Given the description of an element on the screen output the (x, y) to click on. 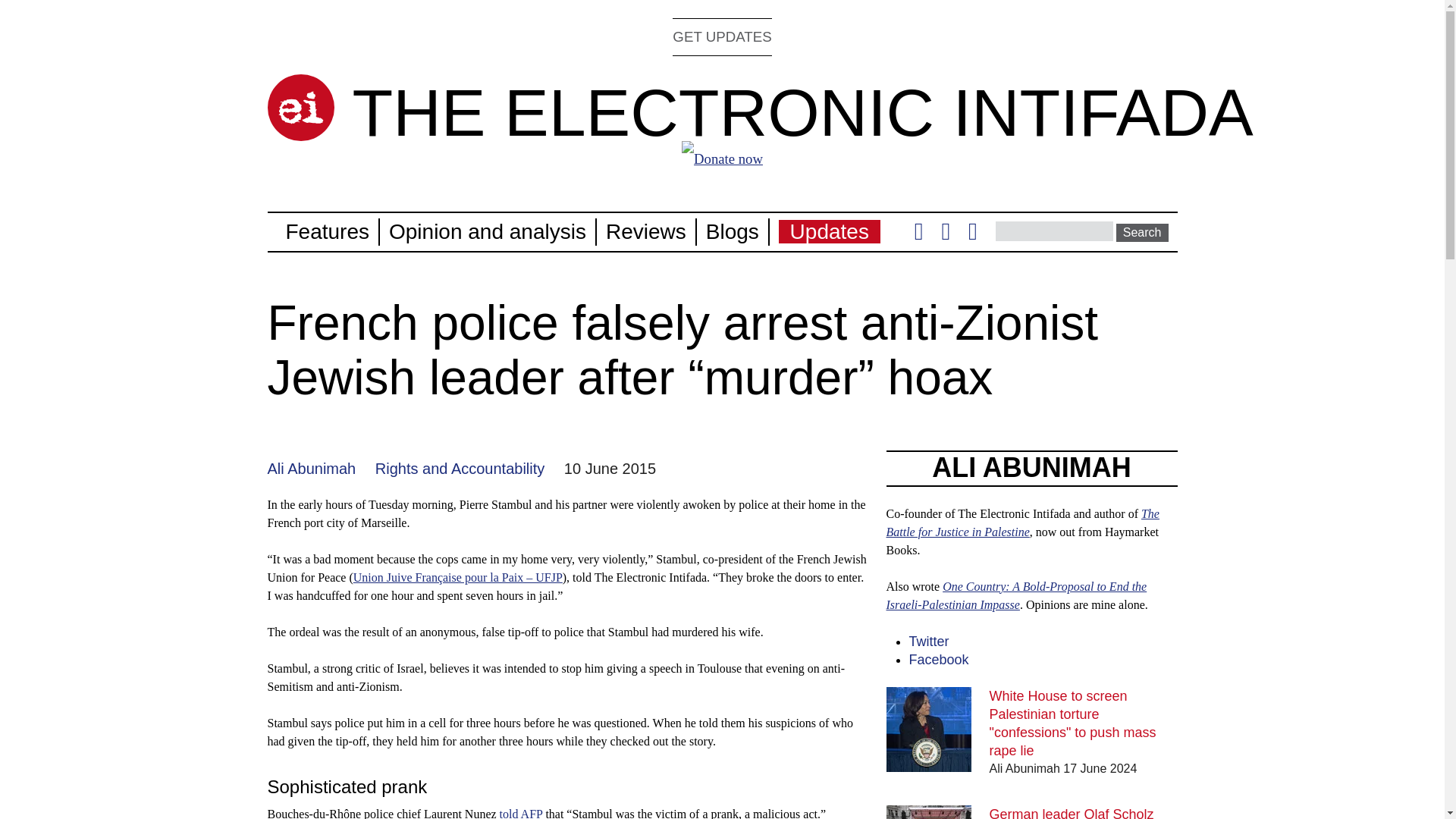
Home (802, 112)
Home (299, 107)
told AFP (521, 813)
Twitter (918, 235)
Rights and Accountability (459, 468)
Enter the terms you wish to search for. (1054, 230)
GET UPDATES (721, 37)
Ali Abunimah (310, 468)
Search (1142, 232)
THE ELECTRONIC INTIFADA (802, 112)
Facebook (945, 235)
YouTube (972, 235)
